Given the description of an element on the screen output the (x, y) to click on. 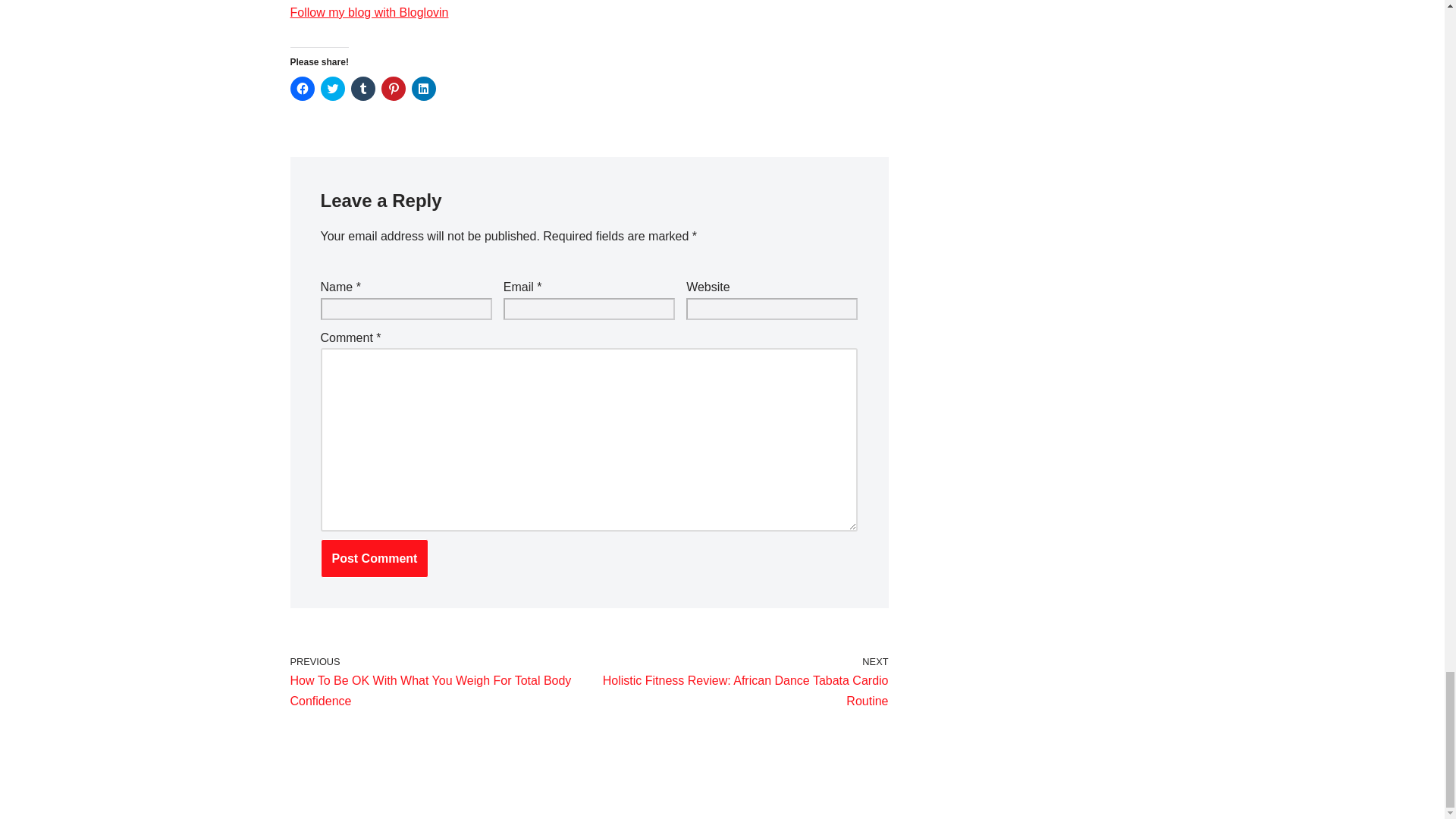
Click to share on Pinterest (392, 88)
Click to share on LinkedIn (422, 88)
Post Comment (374, 558)
Click to share on Tumblr (362, 88)
Post Comment (374, 558)
Click to share on Twitter (331, 88)
Follow my blog with Bloglovin (368, 11)
Click to share on Facebook (301, 88)
